Given the description of an element on the screen output the (x, y) to click on. 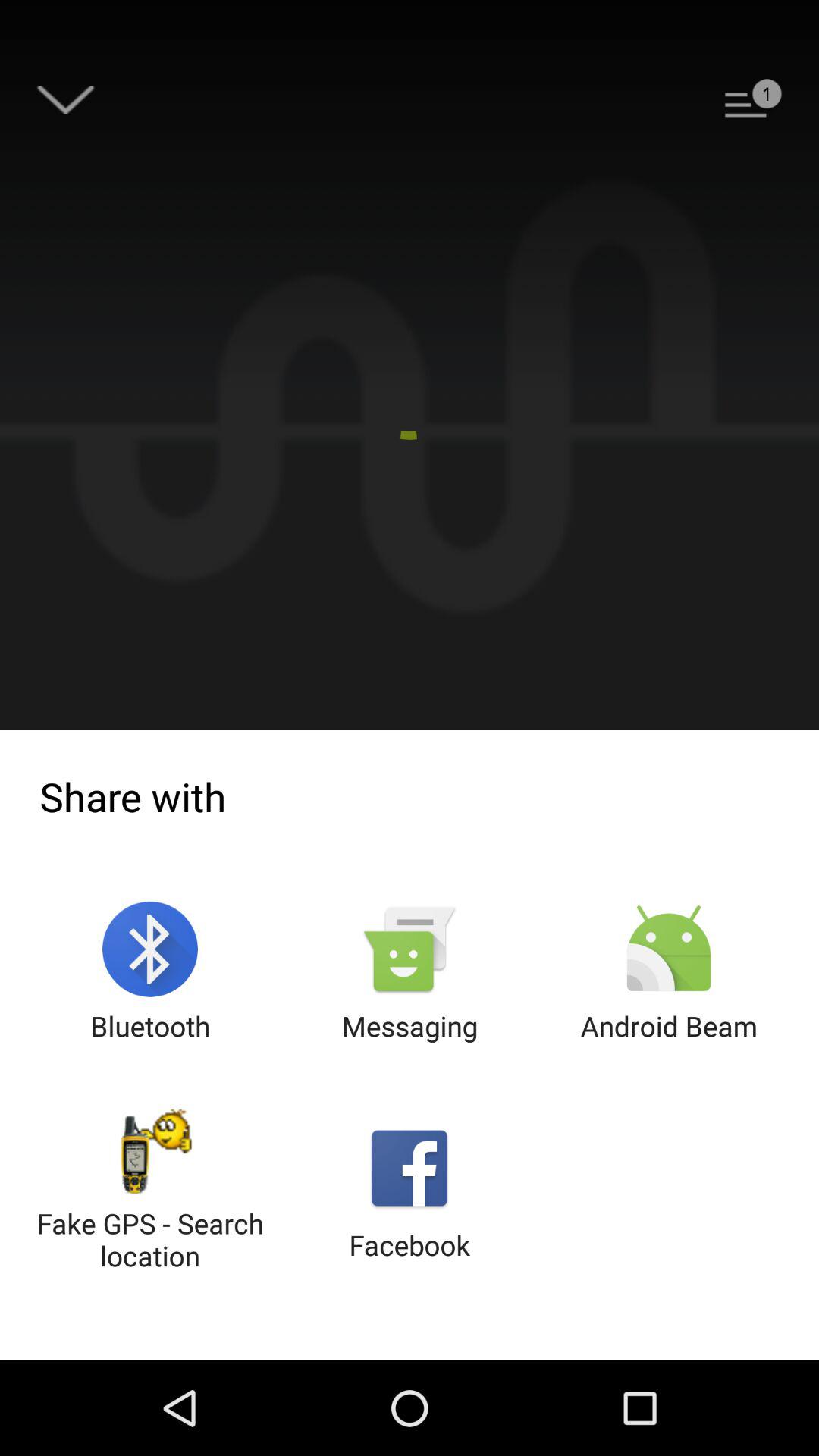
launch the icon next to messaging (668, 972)
